Given the description of an element on the screen output the (x, y) to click on. 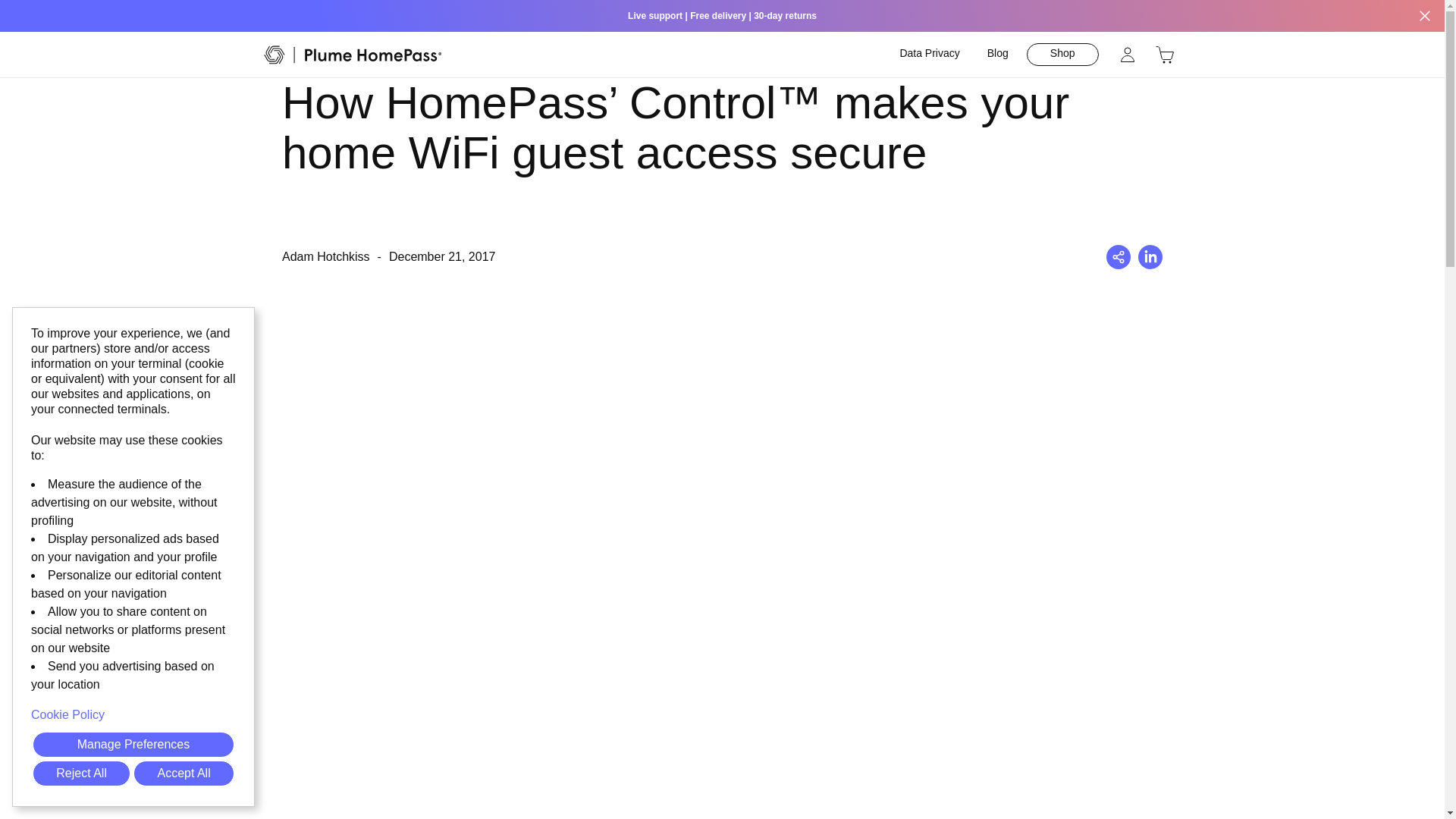
Manage Preferences (133, 744)
Copy link to share (1118, 256)
Account Login (1127, 54)
Share on LinkedIn (1149, 256)
Cookie Policy (132, 714)
Shop (1062, 54)
Shop (1165, 54)
Reject All (81, 773)
Accept All (183, 773)
Blog (997, 54)
Data Privacy (928, 54)
